Given the description of an element on the screen output the (x, y) to click on. 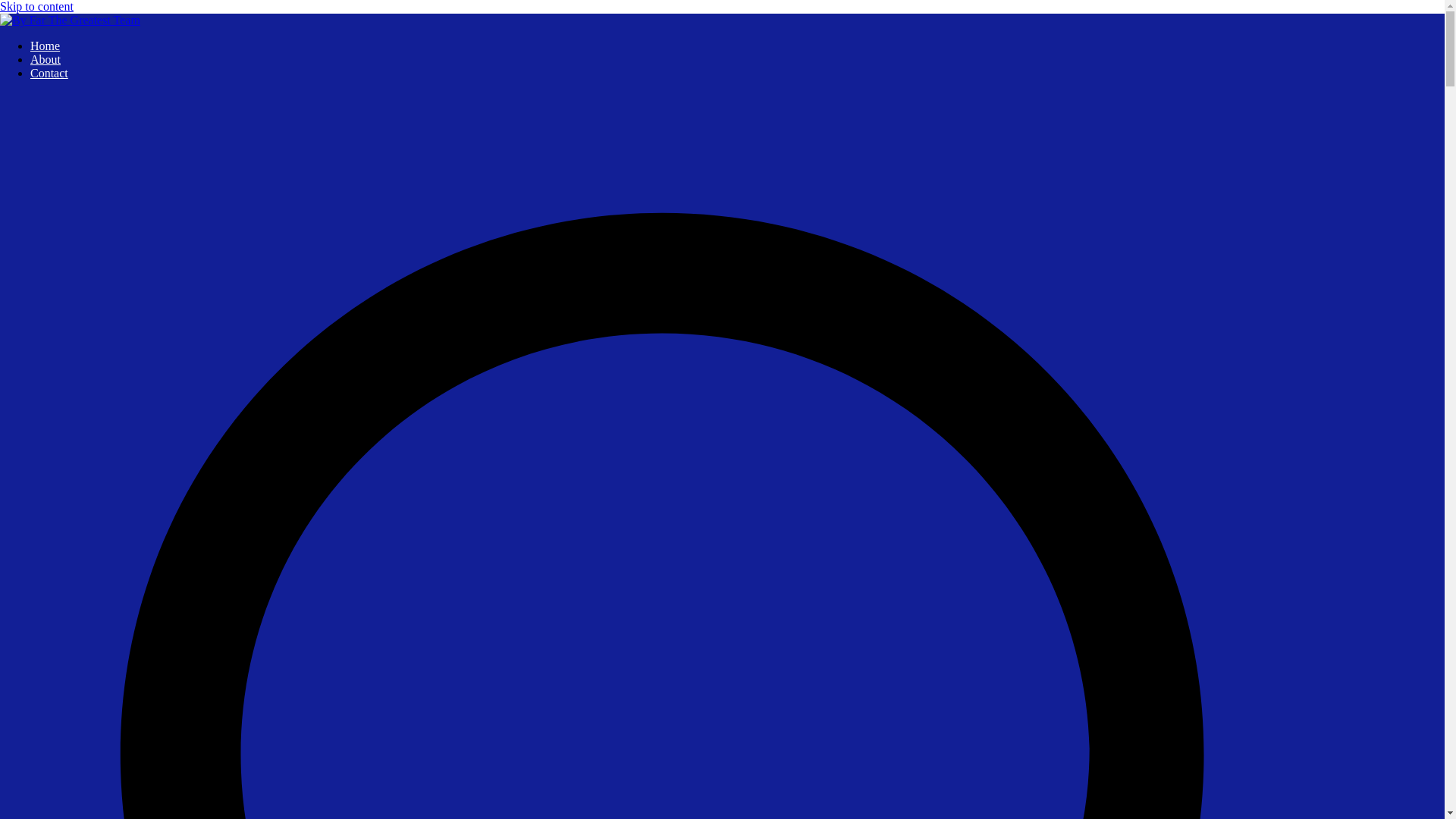
About (45, 59)
Skip to content (37, 6)
By Far The Greatest Team (64, 45)
Contact (49, 72)
Home (44, 45)
